Given the description of an element on the screen output the (x, y) to click on. 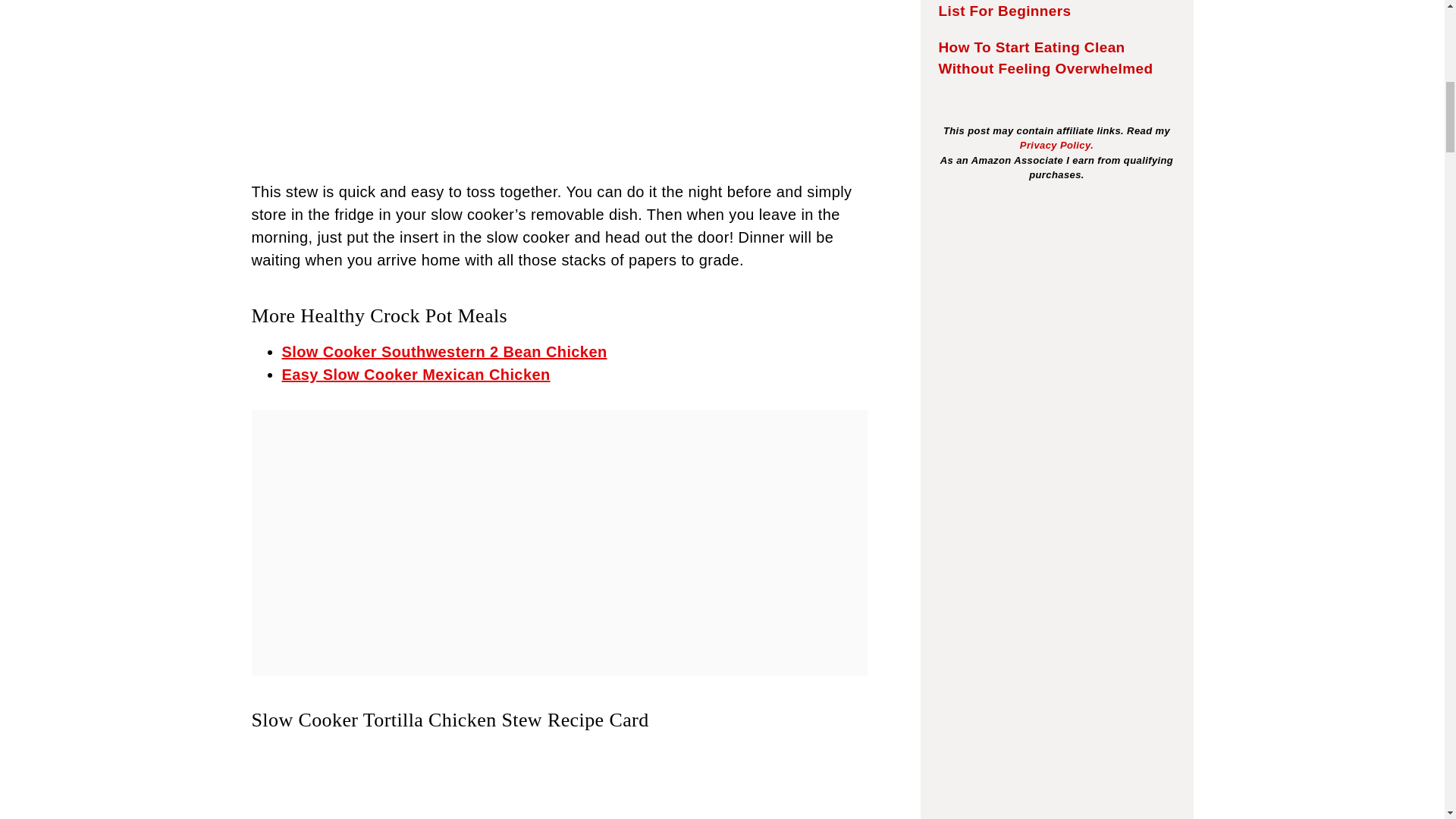
Clean Eating Recipes (444, 351)
Clean Eating Recipes (416, 374)
